Given the description of an element on the screen output the (x, y) to click on. 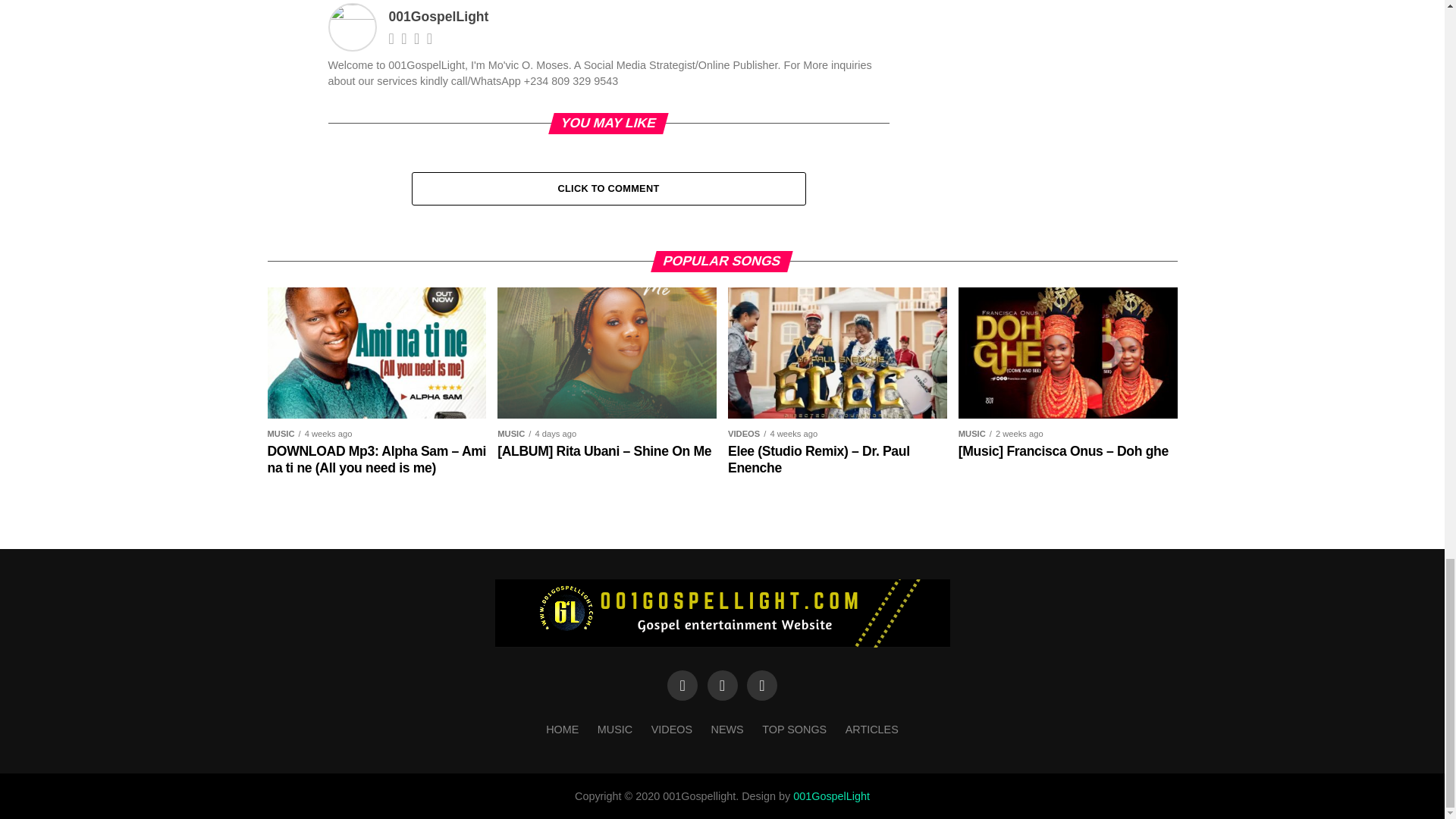
Posts by 001GospelLight (437, 16)
